Given the description of an element on the screen output the (x, y) to click on. 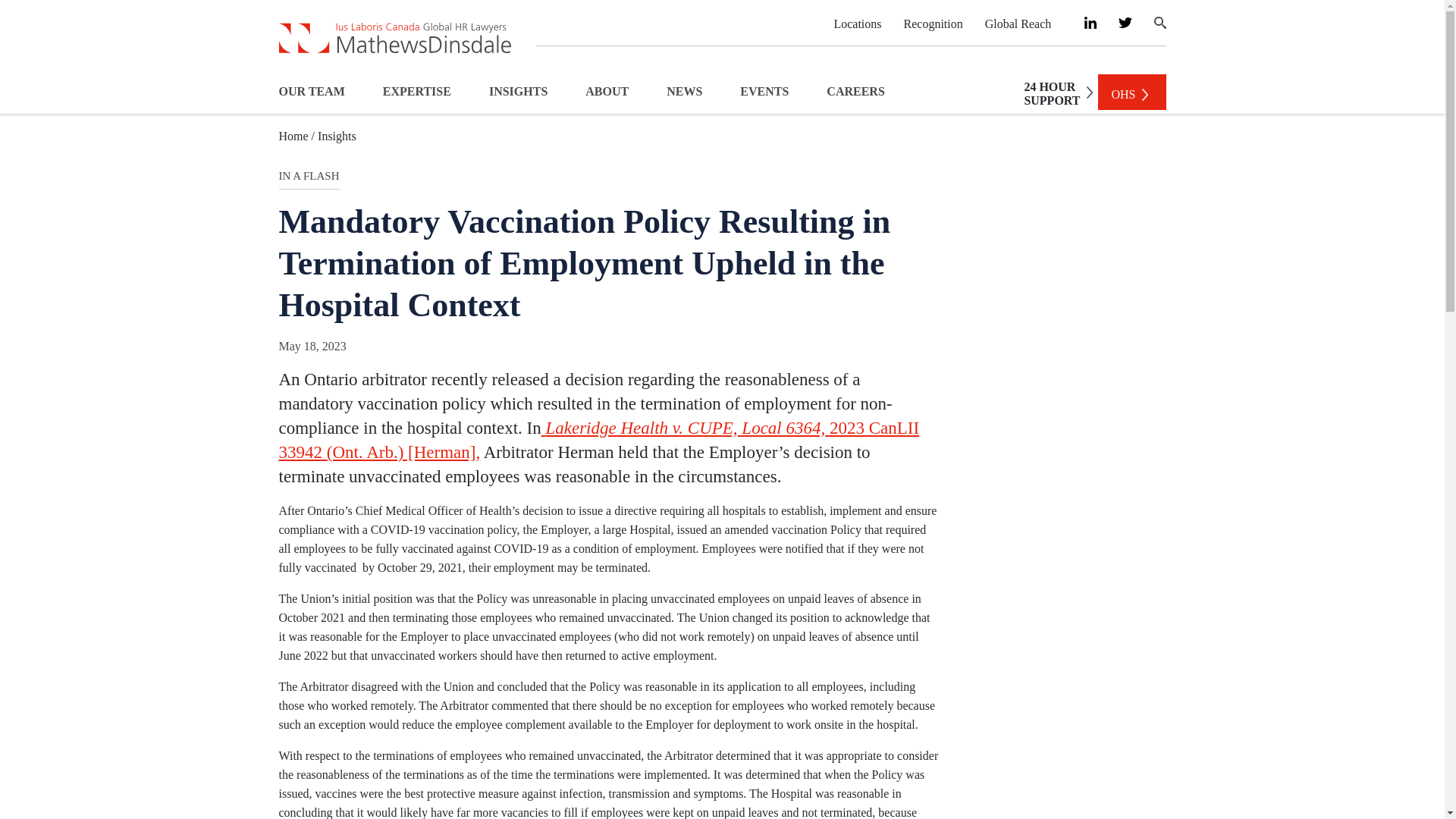
Insights (336, 135)
Go to home. (297, 135)
Locations (856, 23)
EVENTS (764, 91)
OHS (1131, 91)
ABOUT (606, 91)
Go to Insights. (336, 135)
INSIGHTS (1054, 92)
EXPERTISE (518, 91)
